Given the description of an element on the screen output the (x, y) to click on. 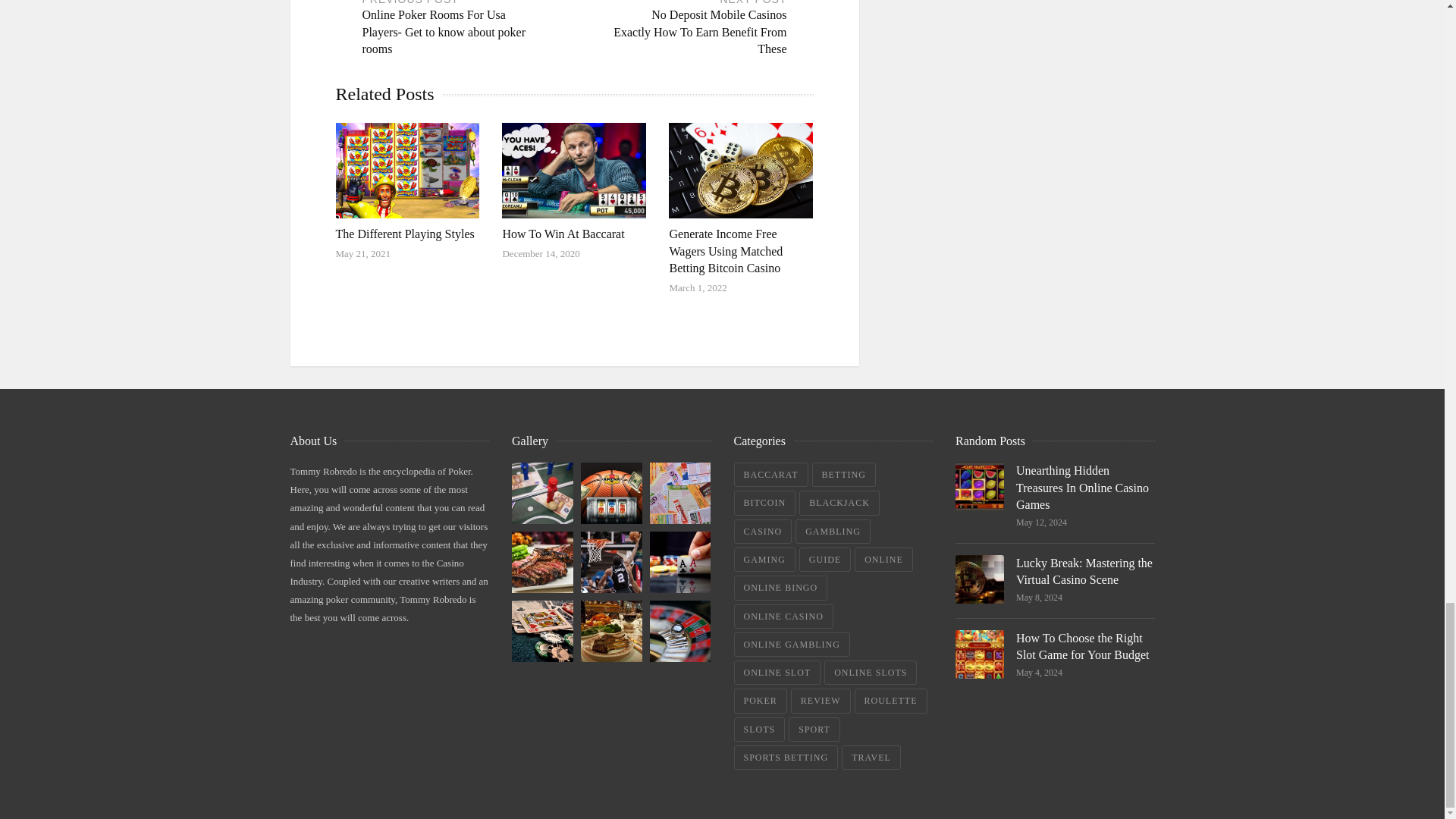
How To Win At Baccarat (563, 233)
The Different Playing Styles (404, 233)
